Given the description of an element on the screen output the (x, y) to click on. 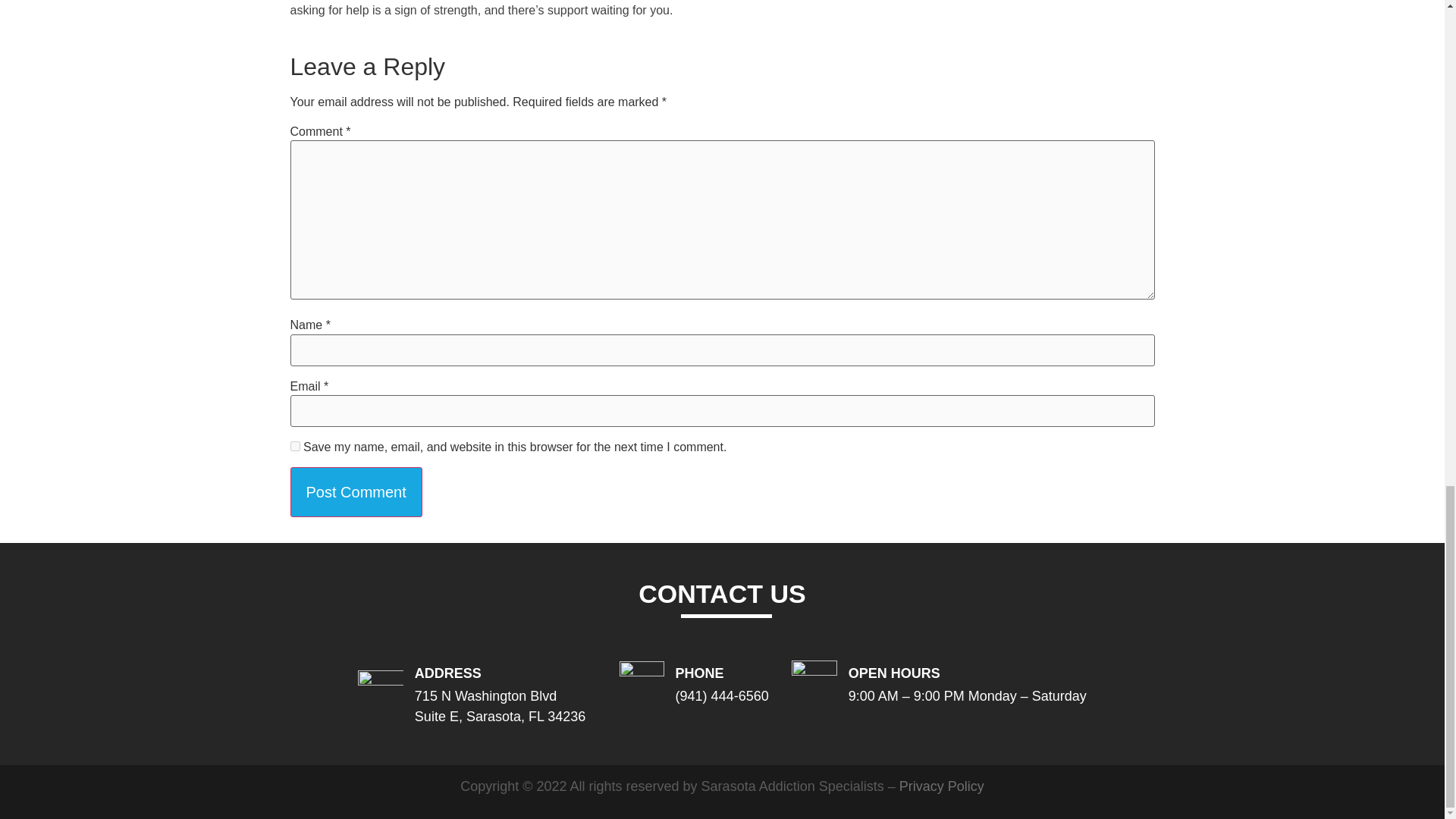
yes (294, 445)
Post Comment (355, 491)
